Given the description of an element on the screen output the (x, y) to click on. 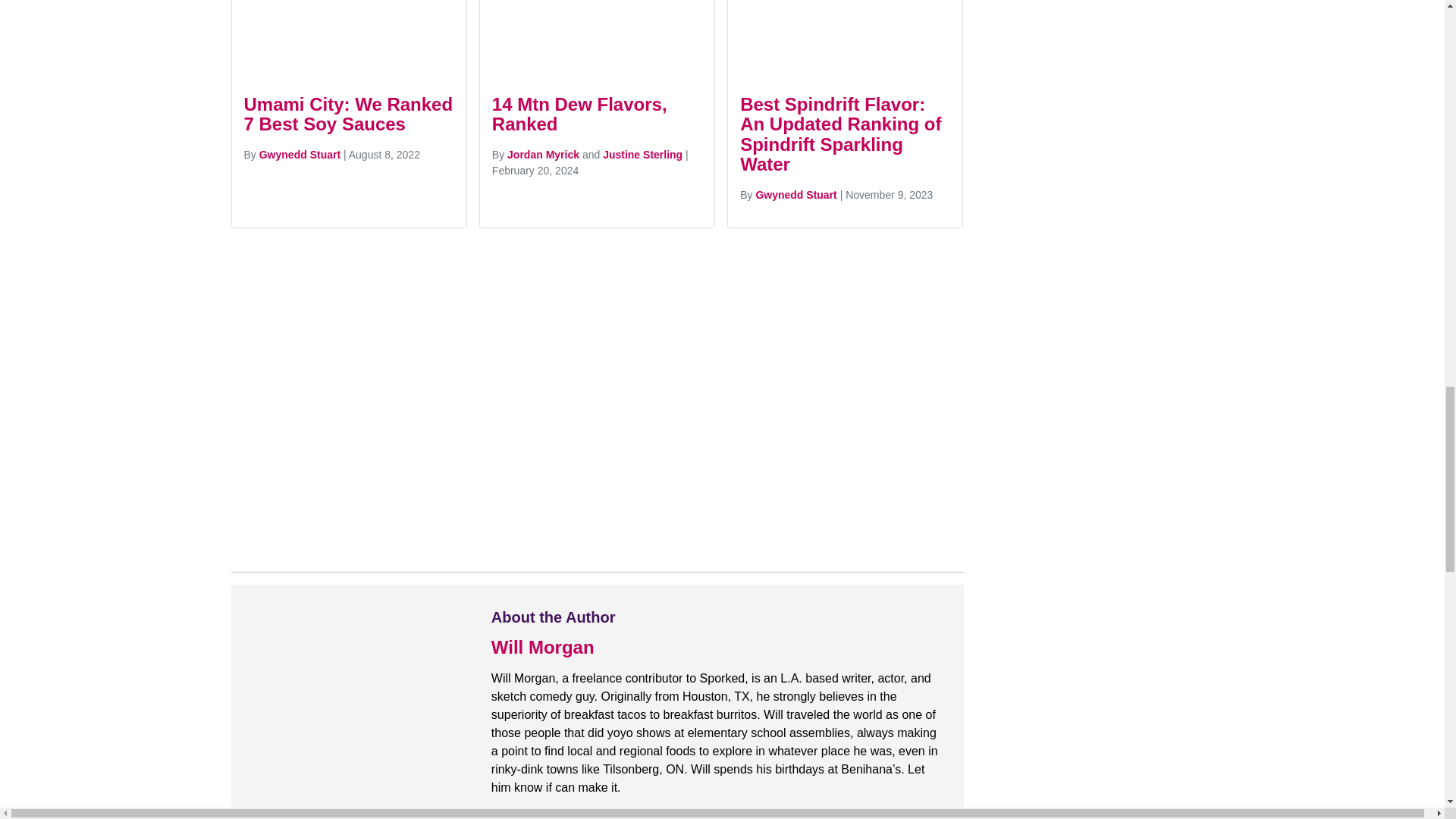
Posts by Gwynedd Stuart (299, 154)
Posts by Justine Sterling (642, 154)
Posts by Gwynedd Stuart (795, 194)
Posts by Jordan Myrick (542, 154)
